Given the description of an element on the screen output the (x, y) to click on. 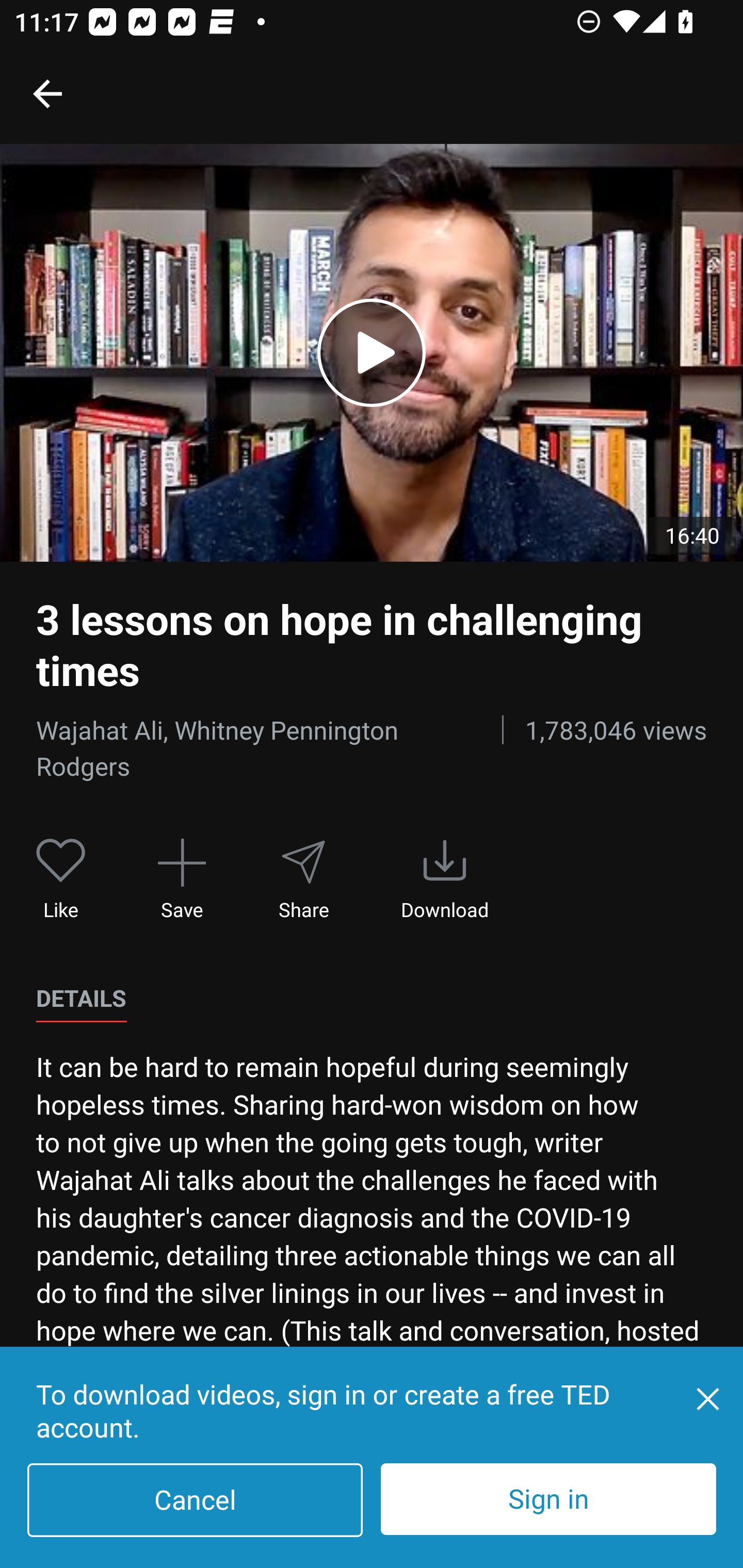
Go back (47, 92)
Like (60, 879)
Save (181, 879)
Share (302, 879)
Download (444, 879)
DETAILS (80, 998)
Cancel (194, 1499)
Sign in (548, 1498)
